Given the description of an element on the screen output the (x, y) to click on. 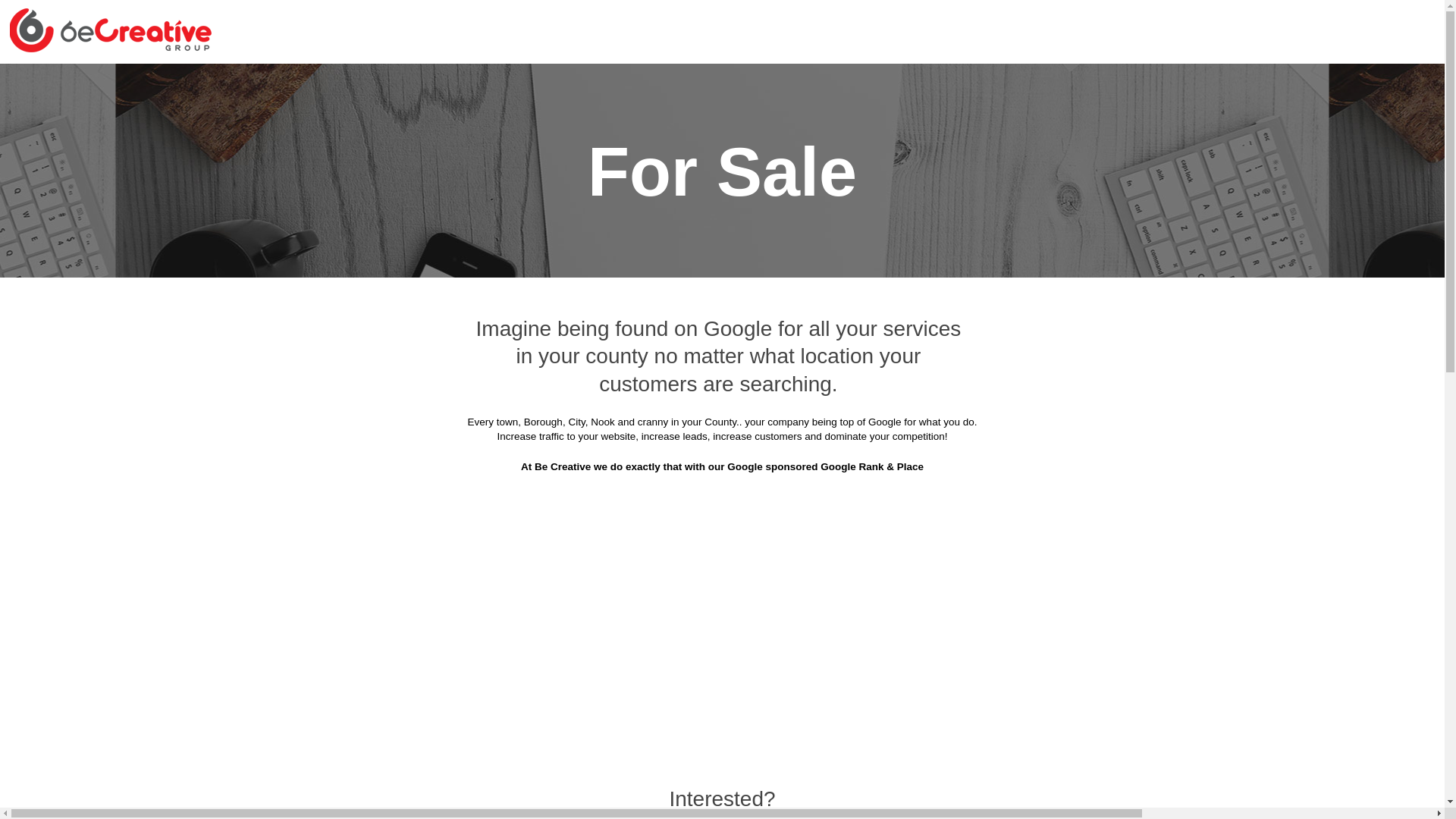
Aggregate Suppliers Camborne Cornwall (1072, 196)
Aggregate Suppliers Callington Cornwall (834, 196)
Aggregate Suppliers Dawlish Devon (663, 271)
Aggregate Suppliers Brixham Devon (632, 158)
Aggregate Suppliers Holsworthy Devon (1076, 346)
Aggregate Suppliers Fowey Cornwall (824, 309)
Aggregate Suppliers Bideford Devon (617, 121)
Aggregate Suppliers Budleigh Salterton Devon (582, 196)
Aggregate Suppliers Bude Cornwall (1086, 158)
Aggregate Suppliers Devon (660, 83)
Aggregate Suppliers Kingsteignton Devon (388, 422)
Aggregate Suppliers Chulmleigh Devon (850, 234)
Aggregate Suppliers Exeter Devon (870, 271)
Aggregate Suppliers Cornwall (488, 83)
Aggregate Suppliers Exmouth Devon (1083, 271)
